Given the description of an element on the screen output the (x, y) to click on. 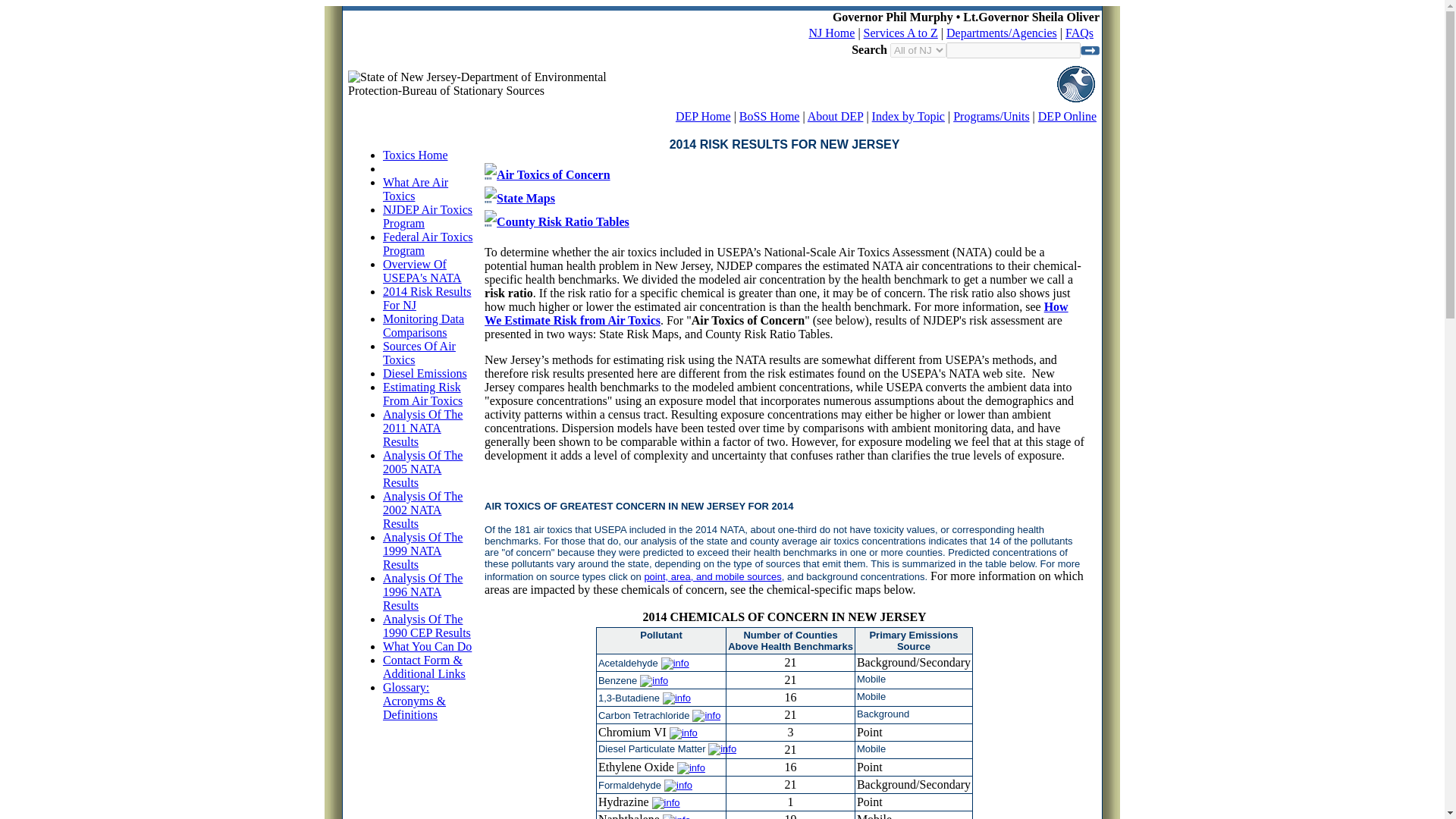
Analysis Of The 1999 NATA Results (422, 550)
Overview Of USEPA's NATA (421, 270)
Monitoring Data Comparisons (423, 325)
About DEP (835, 115)
State Maps (525, 196)
Toxics Home (415, 154)
Analysis Of The 2011 NATA Results (422, 427)
Estimating Risk From Air Toxics (422, 393)
2014 Risk Results For NJ (426, 298)
DEP Online (1067, 115)
How We Estimate Risk from Air Toxics (776, 313)
What You Can Do (426, 645)
DEP Home (702, 115)
Enter search words here (1013, 50)
FAQs (1079, 32)
